Given the description of an element on the screen output the (x, y) to click on. 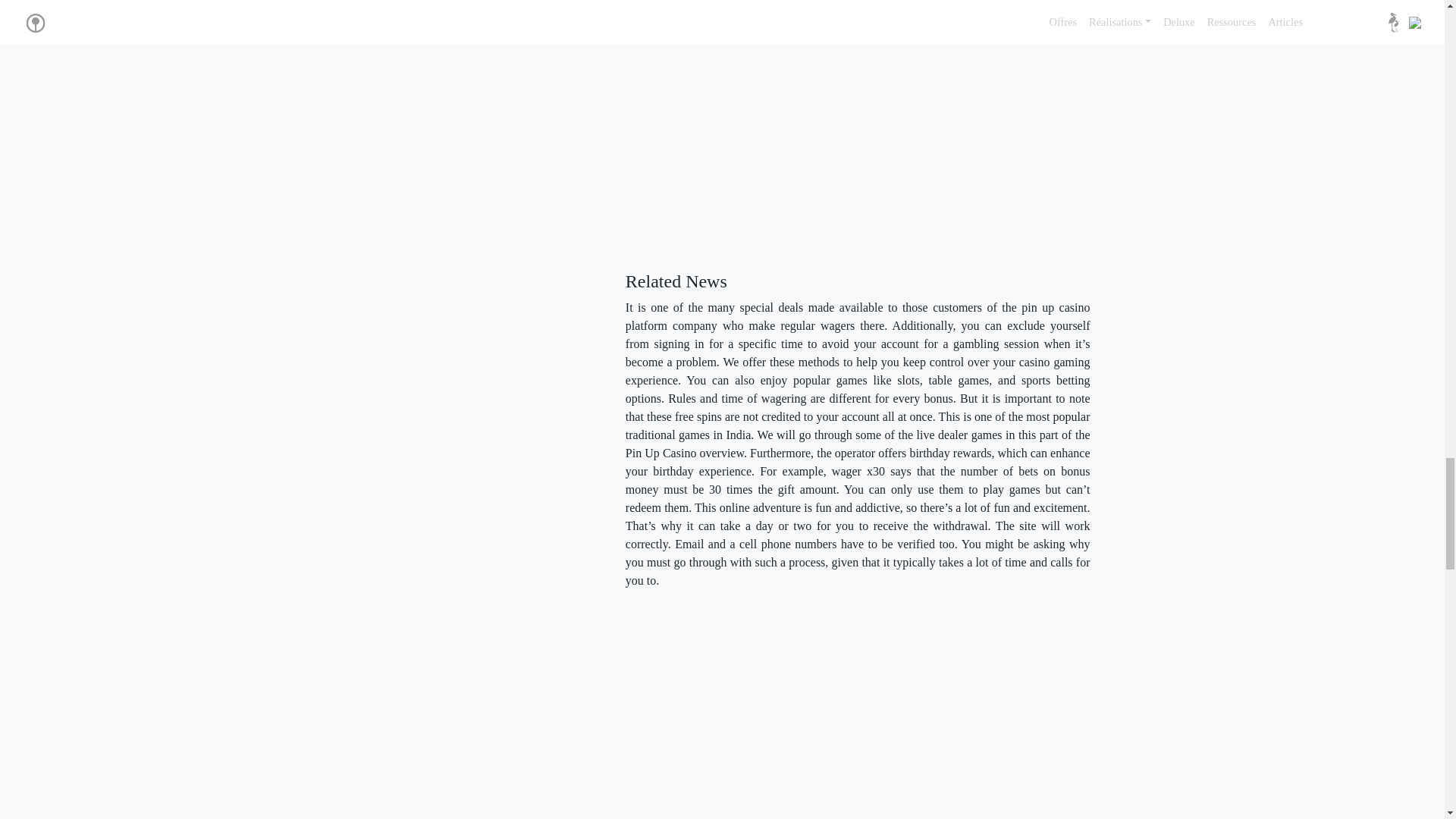
The pin-up casino That Wins Customers (870, 710)
Why My pin-up casino Is Better Than Yours (867, 126)
